Given the description of an element on the screen output the (x, y) to click on. 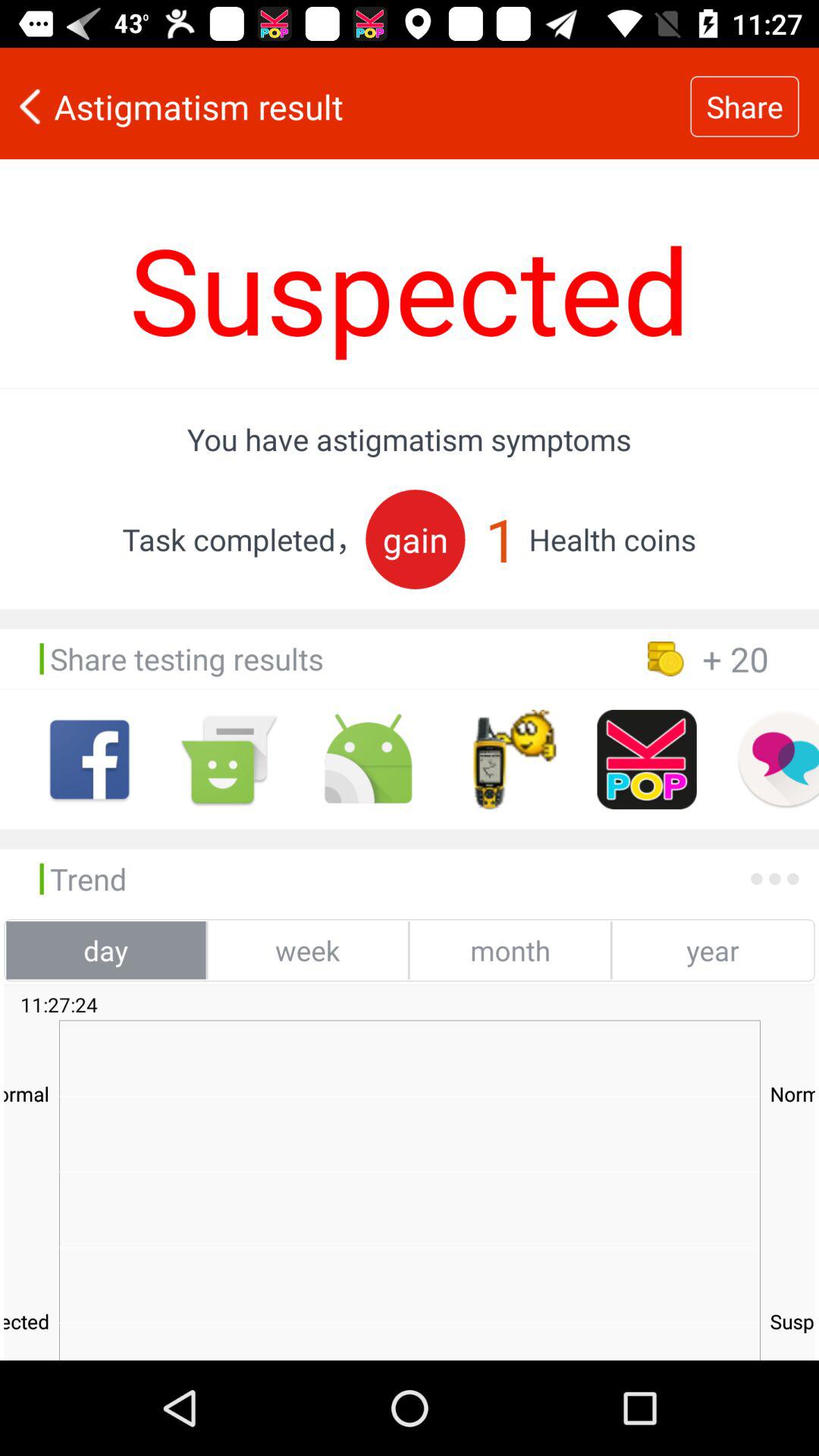
tap week icon (307, 950)
